Given the description of an element on the screen output the (x, y) to click on. 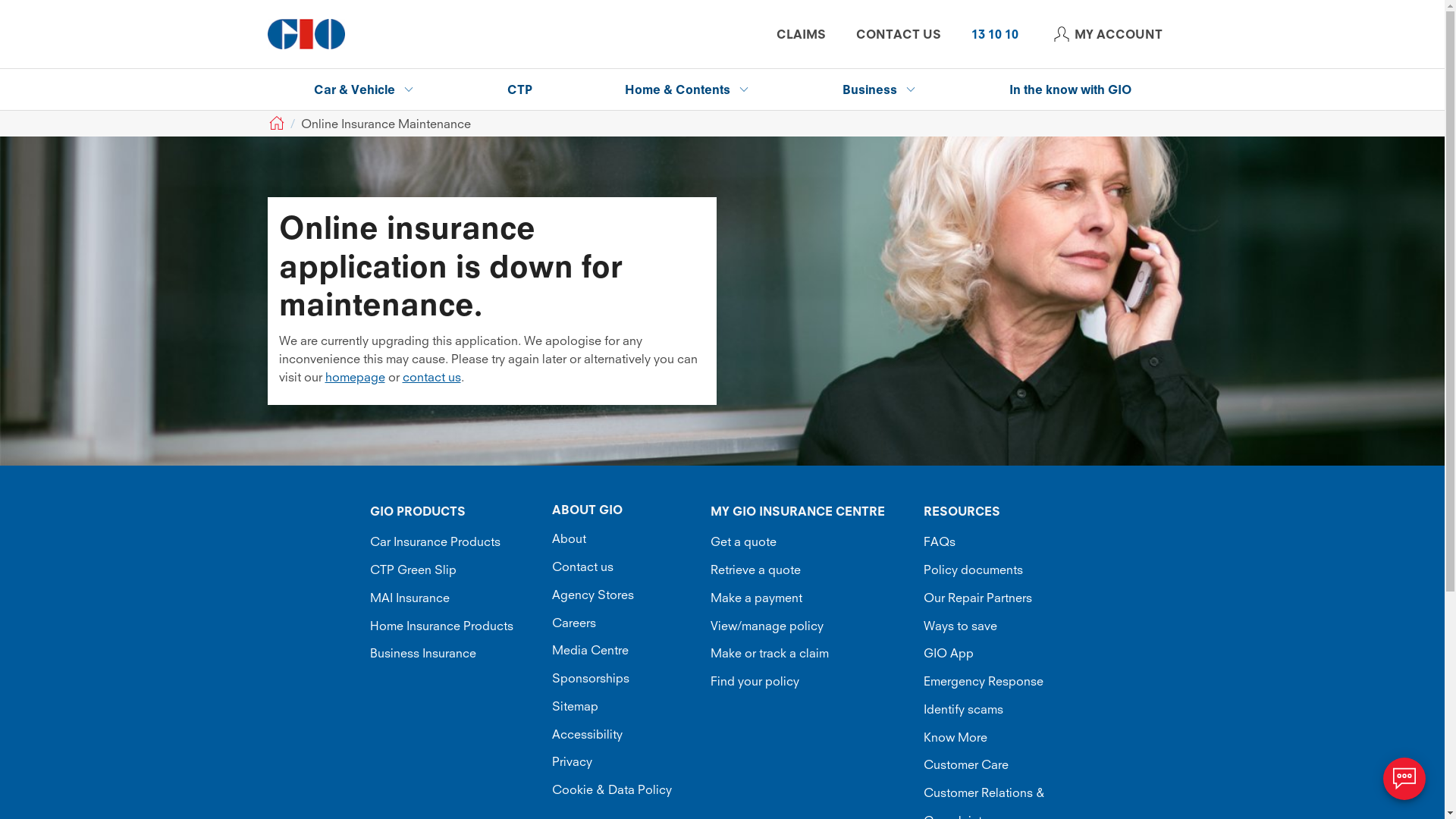
About Element type: text (627, 538)
Our Repair Partners Element type: text (999, 597)
Mature woman talks on mobile Element type: hover (722, 300)
Home & Contents Element type: text (686, 89)
Business Insurance Element type: text (457, 653)
CTP Element type: text (519, 89)
CTP Green Slip Element type: text (457, 569)
Agency Stores Element type: text (627, 594)
Sponsorships Element type: text (627, 678)
Make or track a claim Element type: text (813, 653)
contact us Element type: text (430, 376)
Car Insurance Products Element type: text (457, 541)
Emergency Response Element type: text (999, 681)
CLAIMS Element type: text (800, 34)
Cookie & Data Policy Element type: text (627, 789)
Make a payment Element type: text (813, 597)
Contact us Element type: text (627, 566)
Get a quote Element type: text (813, 541)
Privacy Element type: text (627, 761)
13 10 10 Element type: text (993, 34)
Sitemap Element type: text (627, 706)
Identify scams Element type: text (999, 709)
Customer Care Element type: text (999, 764)
Find your policy Element type: text (813, 681)
Ways to save Element type: text (999, 625)
Policy documents Element type: text (999, 569)
homepage Element type: text (354, 376)
CONTACT US Element type: text (897, 34)
FAQs Element type: text (999, 541)
Know More Element type: text (999, 737)
GIO Element type: text (274, 123)
View/manage policy Element type: text (813, 625)
ABOUT GIO Element type: text (627, 509)
Media Centre Element type: text (627, 650)
Careers Element type: text (627, 622)
MY ACCOUNT Element type: text (1104, 34)
In the know with GIO Element type: text (1070, 89)
Accessibility Element type: text (627, 734)
Car & Vehicle Element type: text (363, 89)
MAI Insurance Element type: text (457, 597)
Business Element type: text (879, 89)
Retrieve a quote Element type: text (813, 569)
GIO App Element type: text (999, 653)
Home Insurance Products Element type: text (457, 625)
